Given the description of an element on the screen output the (x, y) to click on. 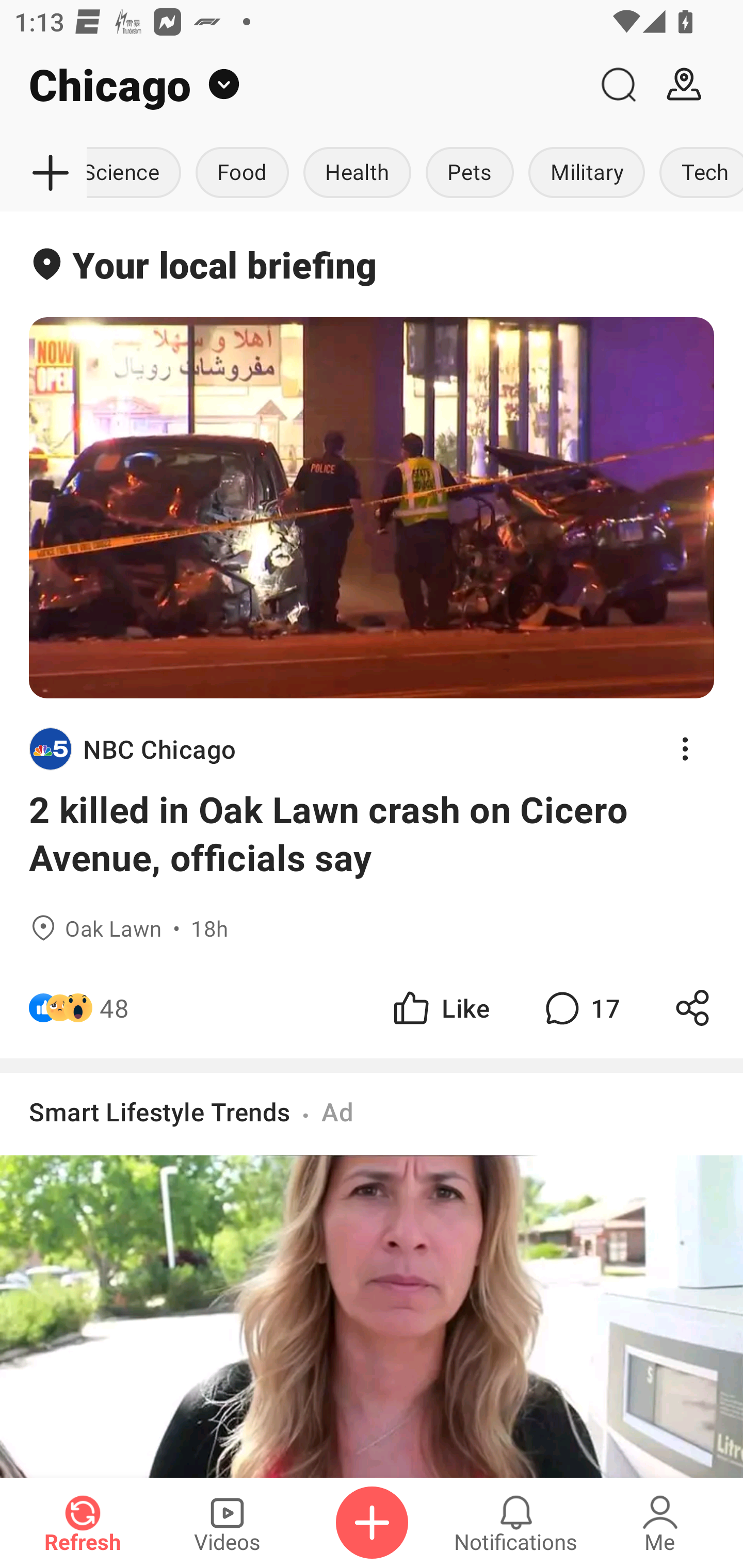
Chicago (292, 84)
Science (136, 172)
Food (241, 172)
Health (357, 172)
Pets (469, 172)
Military (586, 172)
Tech (697, 172)
48 (114, 1007)
Like (439, 1007)
17 (579, 1007)
Smart Lifestyle Trends (159, 1111)
Videos (227, 1522)
Notifications (516, 1522)
Me (659, 1522)
